Given the description of an element on the screen output the (x, y) to click on. 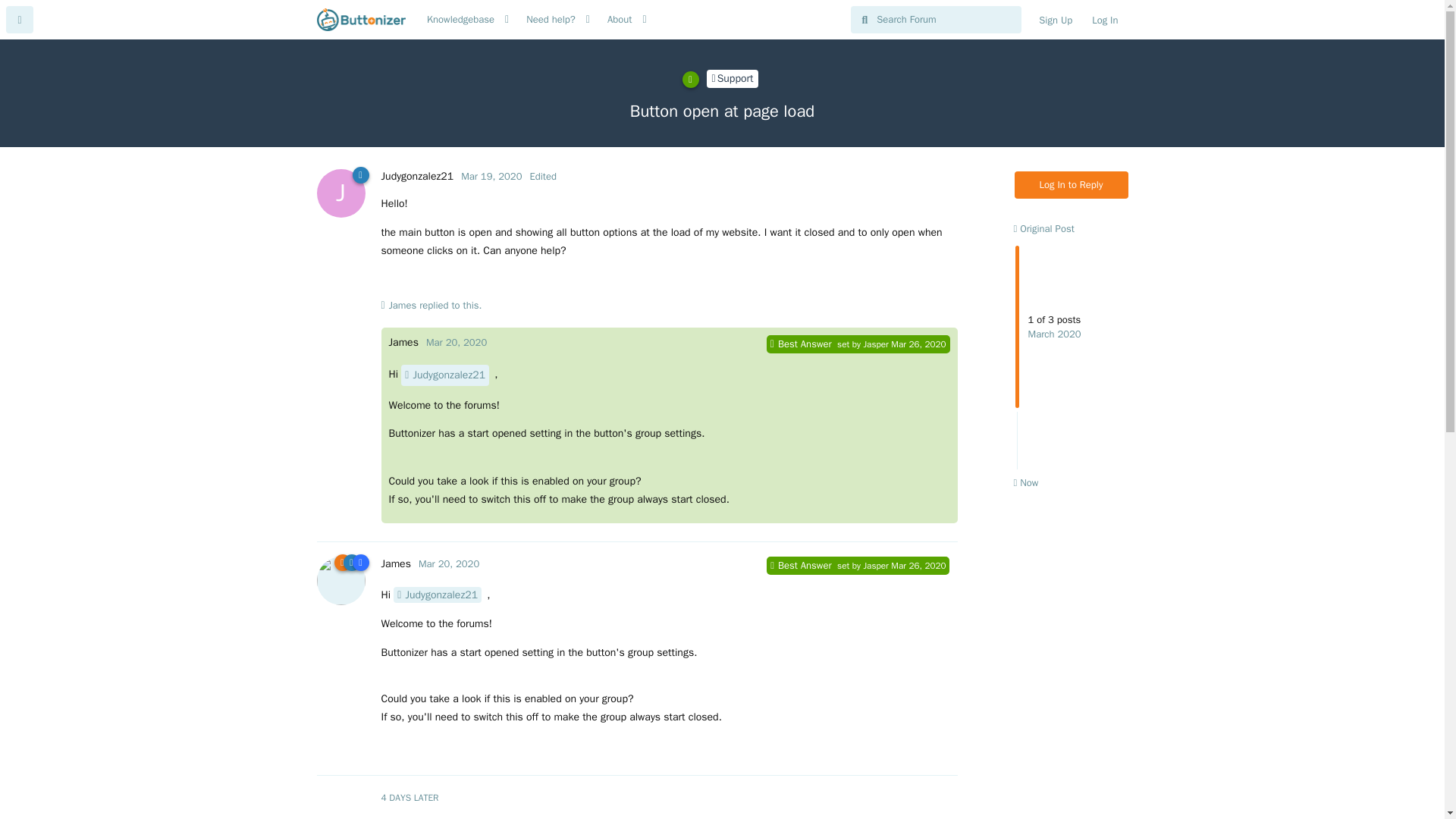
Jasper (875, 345)
Now (1071, 355)
Friday, March 20, 2020 12:35 AM (1025, 481)
Need help? (449, 563)
Judygonzalez21 (550, 19)
Thursday, March 26, 2020 8:01 PM (445, 374)
Thursday, March 19, 2020 8:01 AM (917, 344)
Original Post (491, 175)
Sign Up (1043, 228)
James (1055, 19)
Knowledgebase (402, 305)
About (416, 175)
Thursday, March 26, 2020 8:01 PM (459, 19)
